Given the description of an element on the screen output the (x, y) to click on. 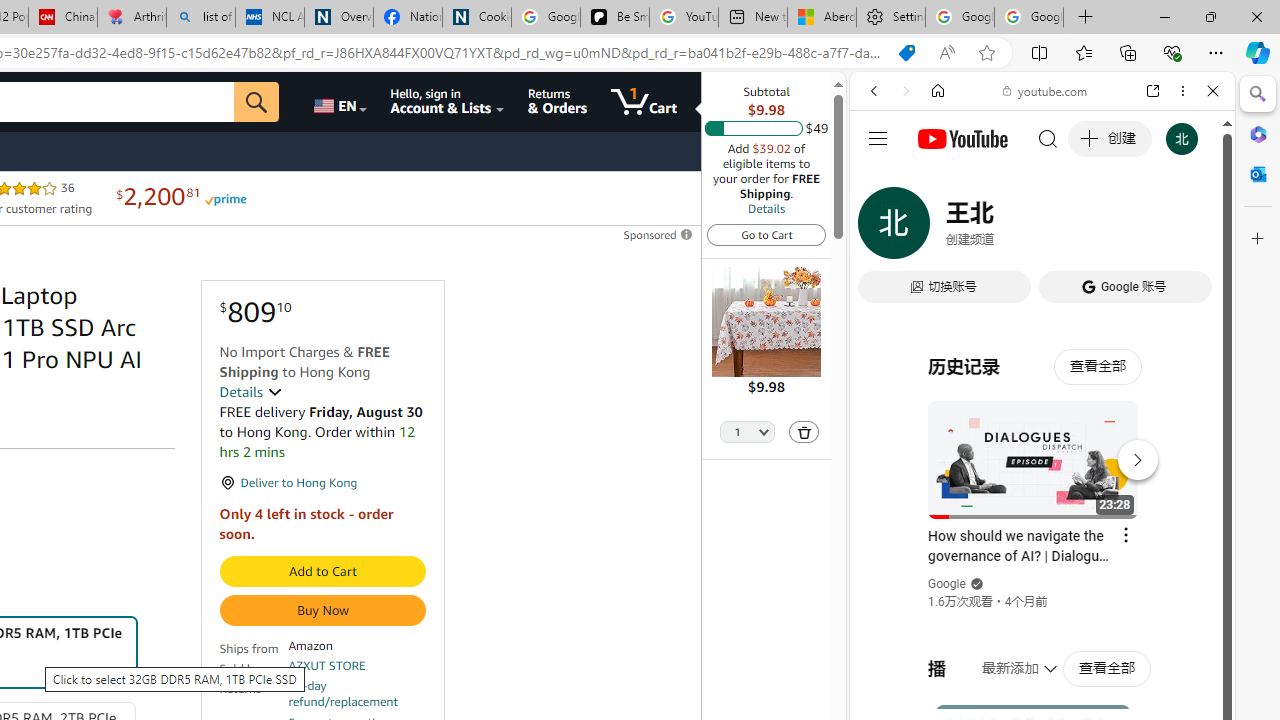
Returns & Orders (557, 101)
Add to Cart (322, 571)
Search videos from youtube.com (1005, 657)
Google (947, 584)
SEARCH TOOLS (1093, 228)
Trailer #2 [HD] (1042, 594)
